Given the description of an element on the screen output the (x, y) to click on. 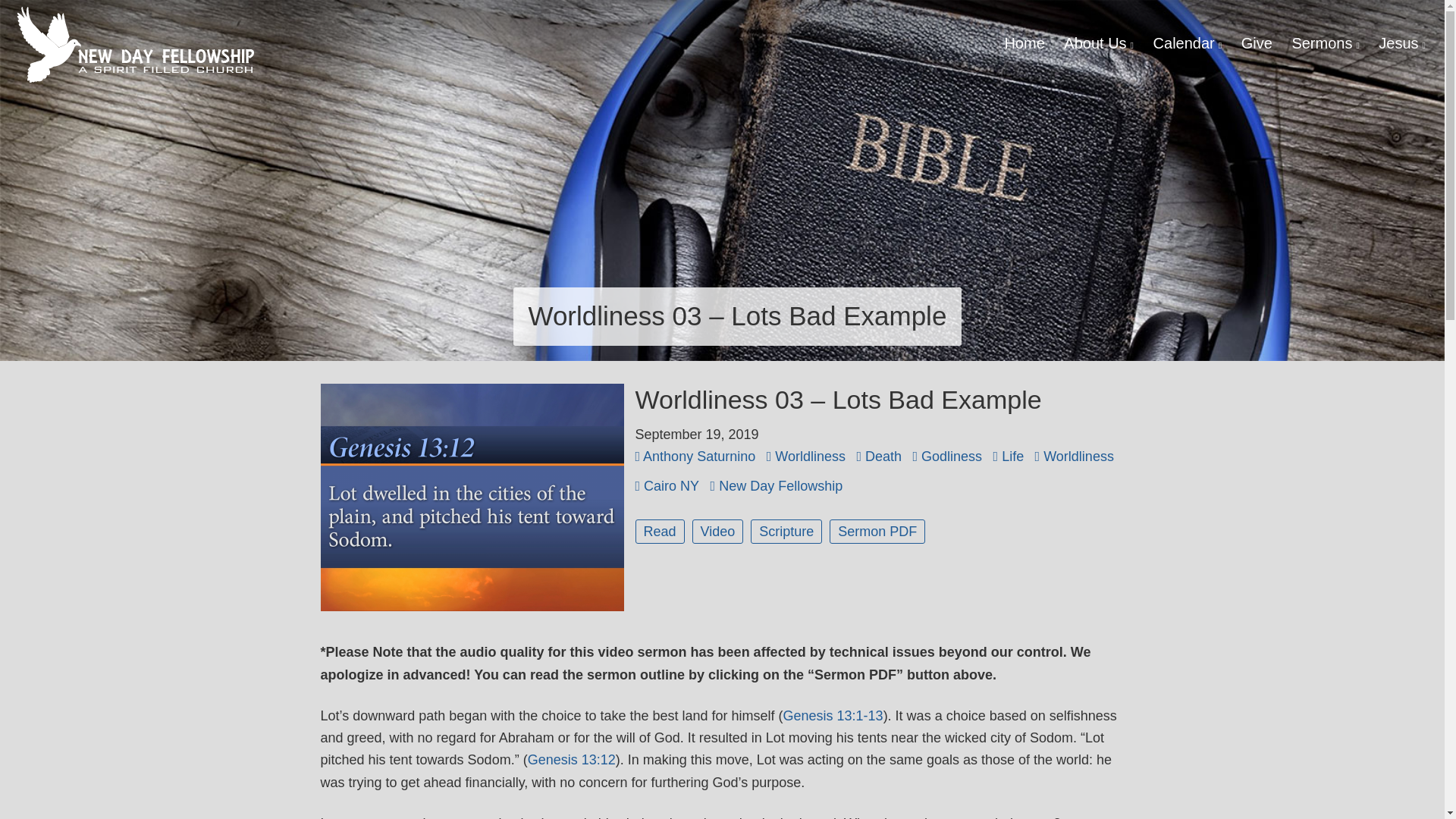
Jesus (1401, 42)
Genesis 13:1-13 (833, 715)
Video (718, 530)
Read (659, 530)
View all sermons on Death (882, 456)
Sermon PDF (876, 530)
Genesis 13:12 (571, 759)
Home (1023, 42)
New Day Fellowship (135, 44)
Scripture (786, 530)
